Given the description of an element on the screen output the (x, y) to click on. 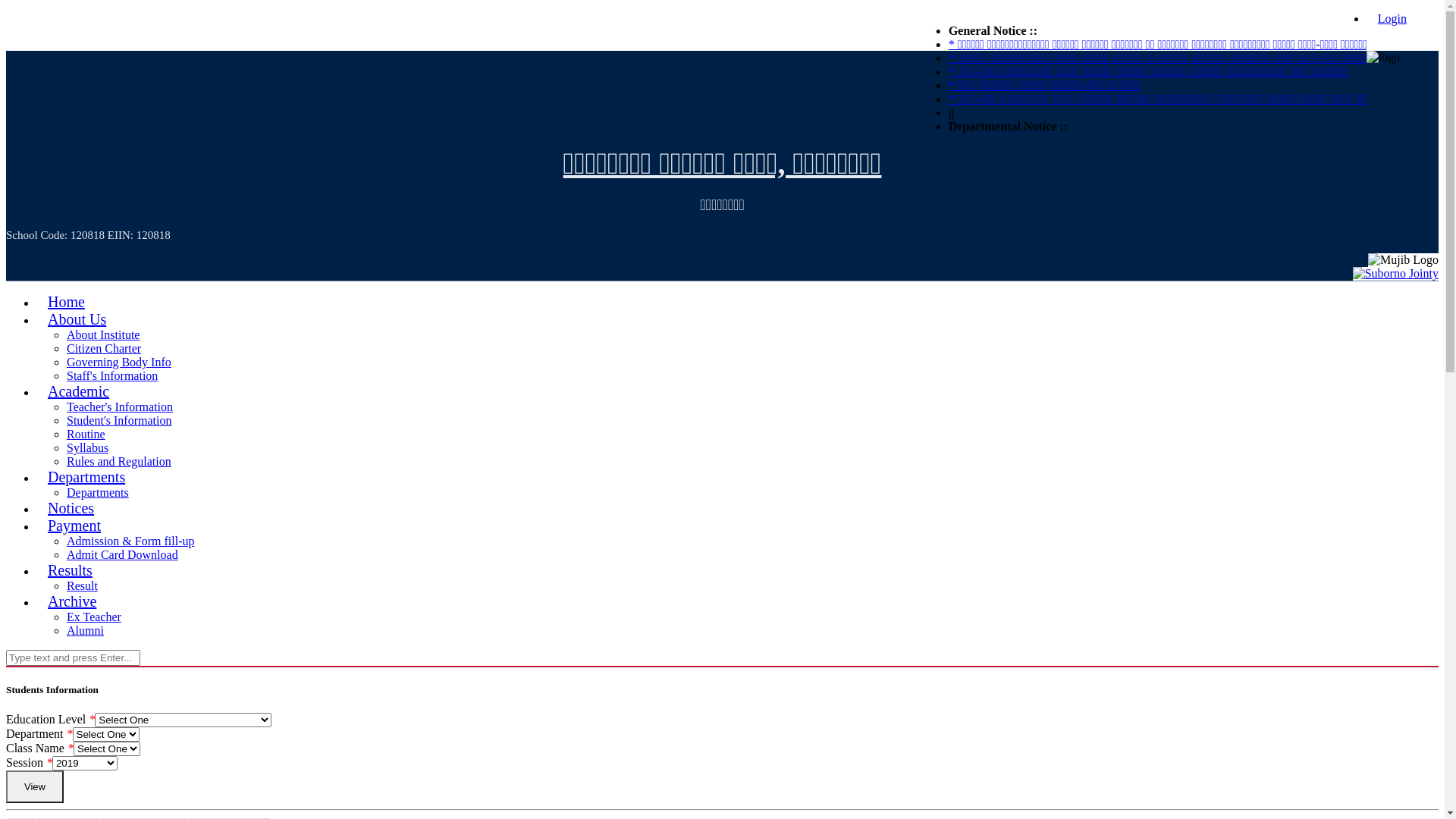
Admit Card Download Element type: text (122, 554)
Routine Element type: text (85, 433)
View Element type: text (34, 786)
Result Element type: text (81, 585)
Login Element type: text (1392, 18)
Payment Element type: text (74, 525)
Archive Element type: text (71, 601)
Staff's Information Element type: text (111, 375)
Student's Information Element type: text (118, 420)
Notices Element type: text (70, 507)
Governing Body Info Element type: text (118, 361)
Academic Element type: text (78, 391)
|| Element type: text (1242, 112)
About Institute Element type: text (102, 334)
Ex Teacher Element type: text (93, 616)
Syllabus Element type: text (87, 447)
Departments Element type: text (86, 476)
Alumni Element type: text (84, 630)
Admission & Form fill-up Element type: text (130, 540)
Teacher's Information Element type: text (119, 406)
About Us Element type: text (76, 319)
Citizen Charter Element type: text (103, 348)
Results Element type: text (69, 570)
Departments Element type: text (97, 492)
General Notice :: Element type: text (1286, 30)
Departmental Notice :: Element type: text (1298, 125)
Rules and Regulation Element type: text (118, 461)
Home Element type: text (66, 301)
